Given the description of an element on the screen output the (x, y) to click on. 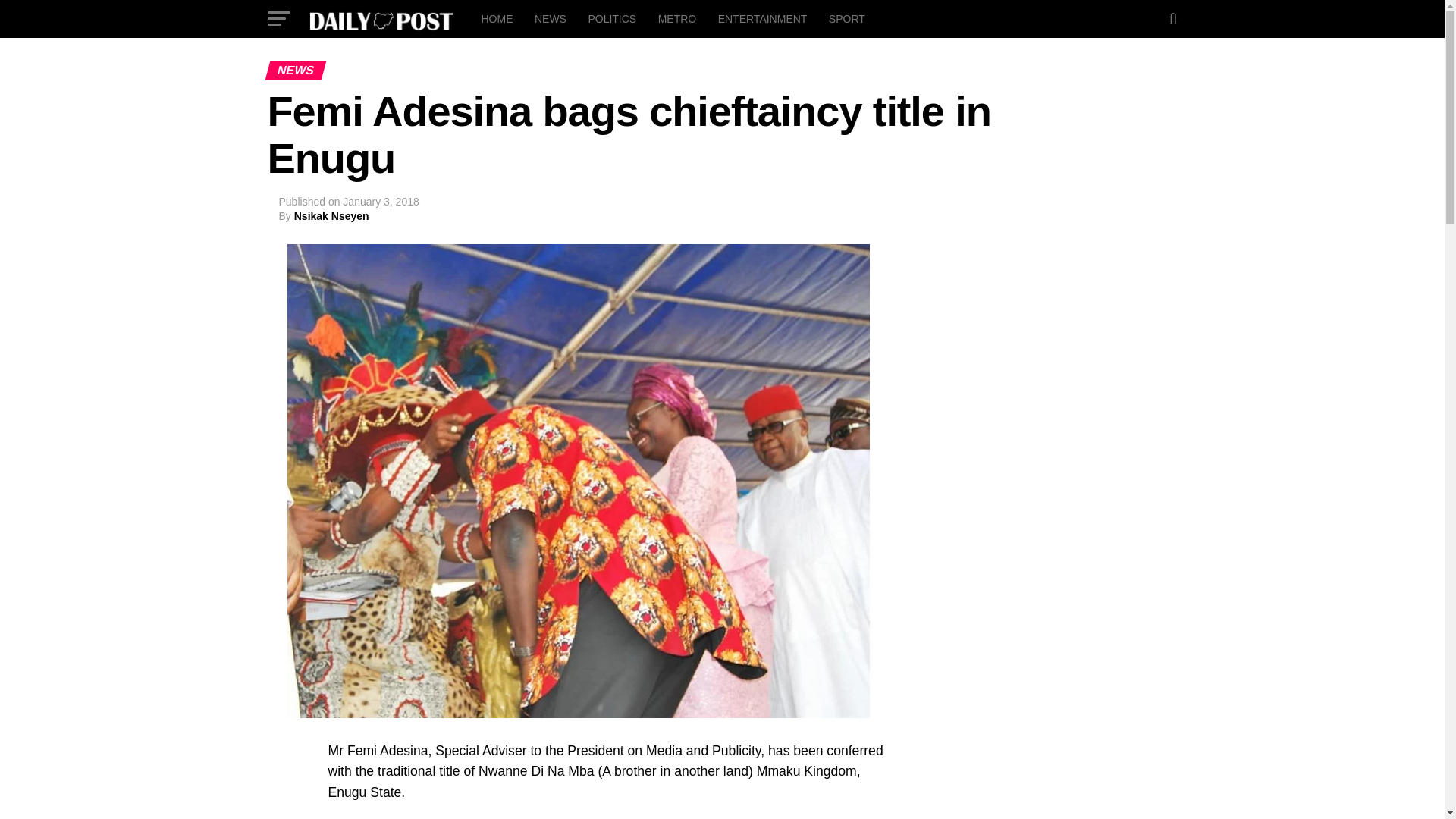
HOME (496, 18)
POLITICS (611, 18)
Posts by Nsikak Nseyen (331, 215)
NEWS (550, 18)
METRO (677, 18)
Nsikak Nseyen (331, 215)
ENTERTAINMENT (762, 18)
SPORT (847, 18)
